Given the description of an element on the screen output the (x, y) to click on. 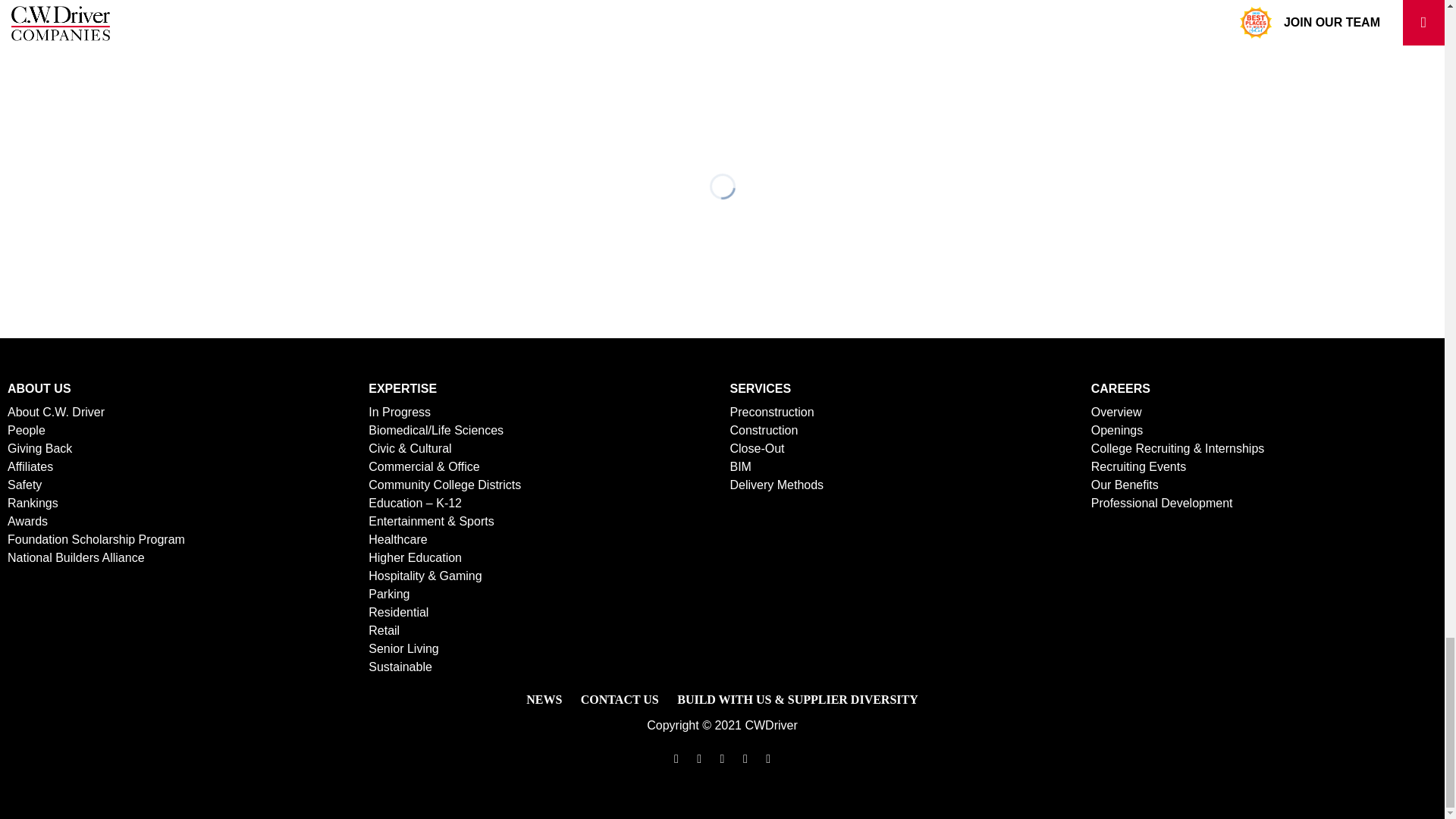
Giving Back (39, 448)
About C.W. Driver (55, 411)
Affiliates (29, 466)
Safety (24, 484)
People (26, 430)
